Given the description of an element on the screen output the (x, y) to click on. 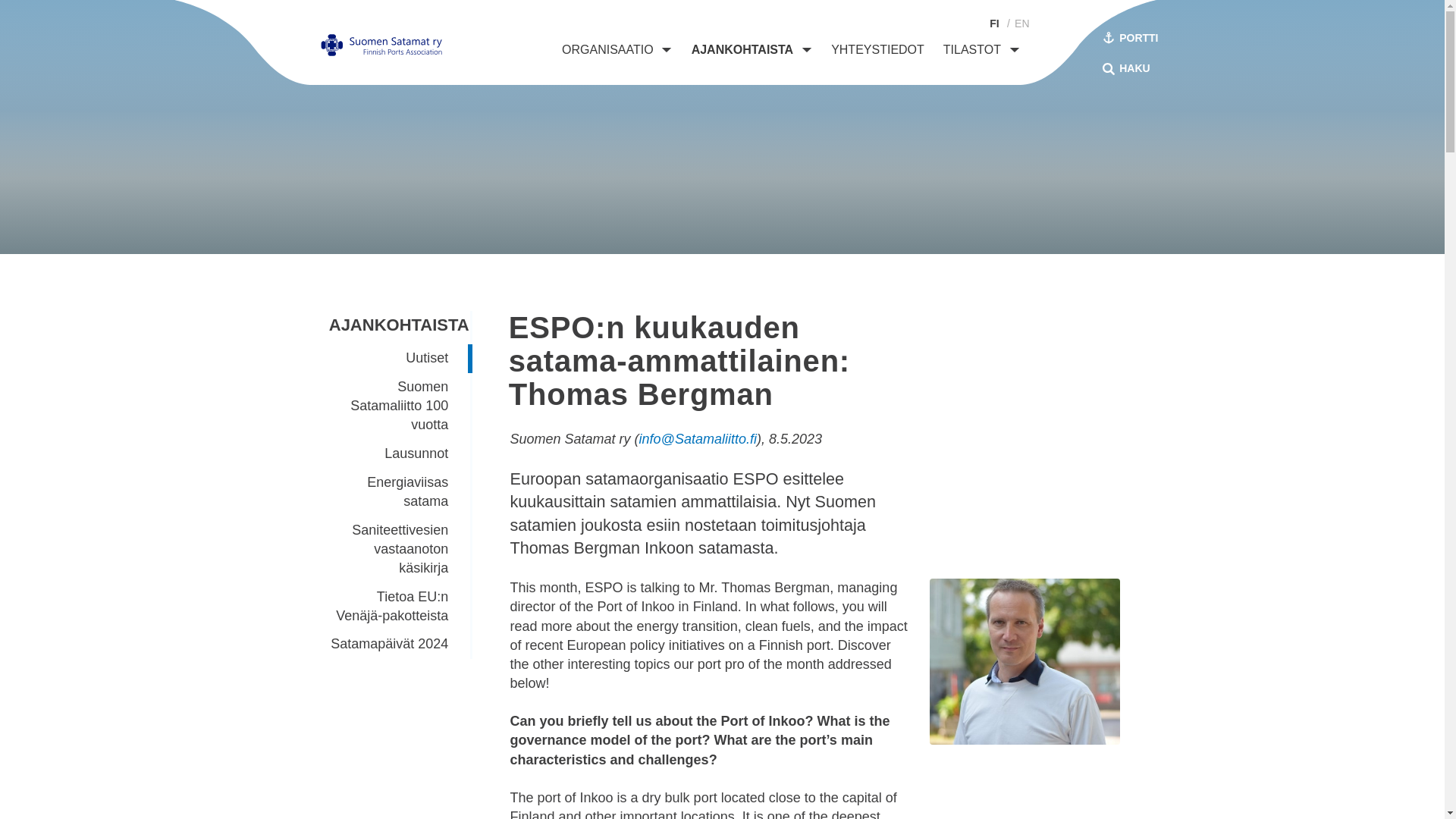
Suomen Satamaliitto (381, 45)
PORTTI (1130, 38)
ORGANISAATIO (607, 49)
FI (995, 23)
EN (1021, 23)
AJANKOHTAISTA (742, 49)
Suomen Satamaliitto (381, 45)
YHTEYSTIEDOT (877, 49)
TILASTOT (972, 49)
